Given the description of an element on the screen output the (x, y) to click on. 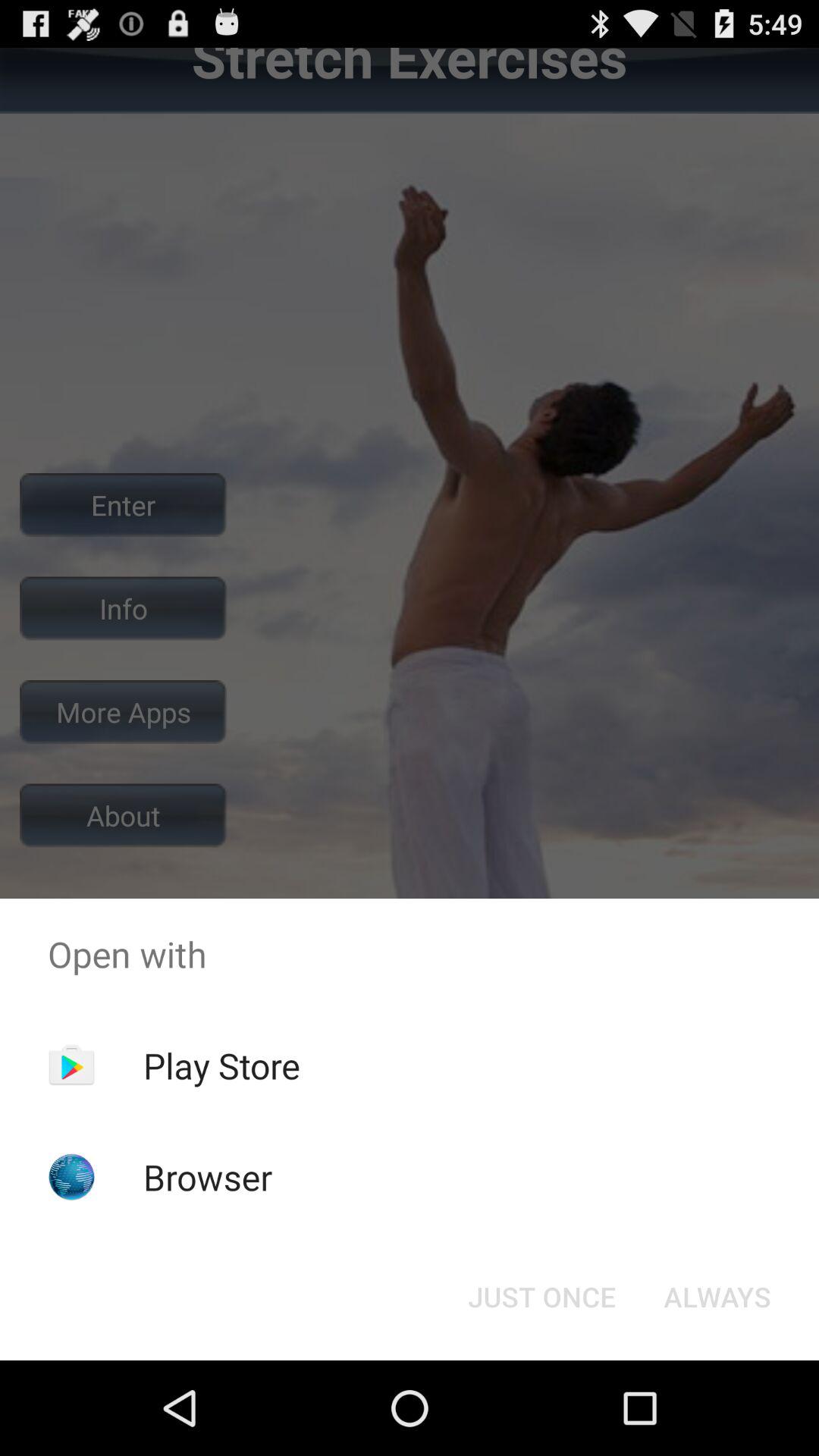
choose the icon to the right of the just once button (717, 1296)
